Given the description of an element on the screen output the (x, y) to click on. 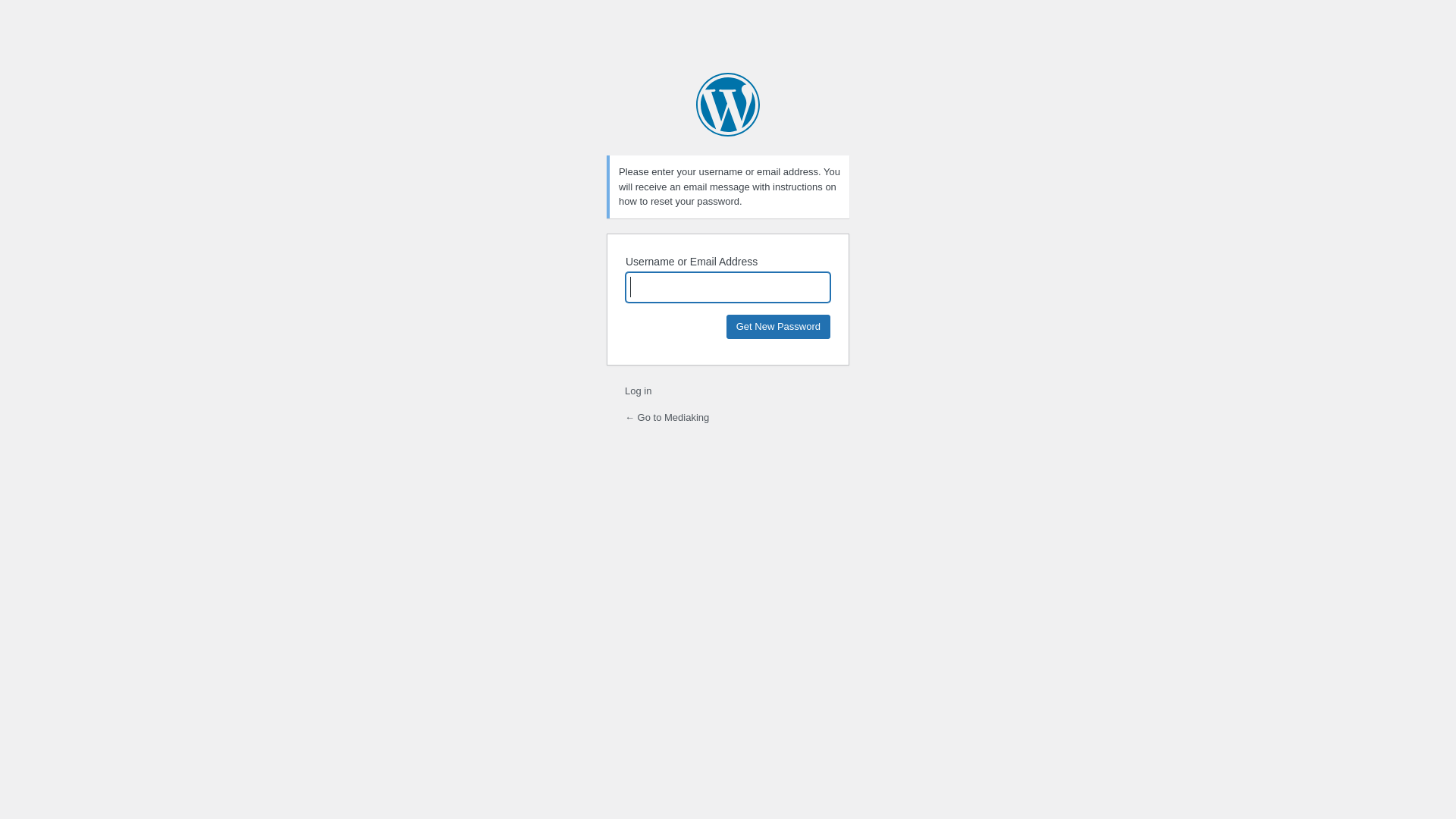
Log in Element type: text (637, 390)
Powered by WordPress Element type: text (727, 104)
Get New Password Element type: text (778, 325)
